Given the description of an element on the screen output the (x, y) to click on. 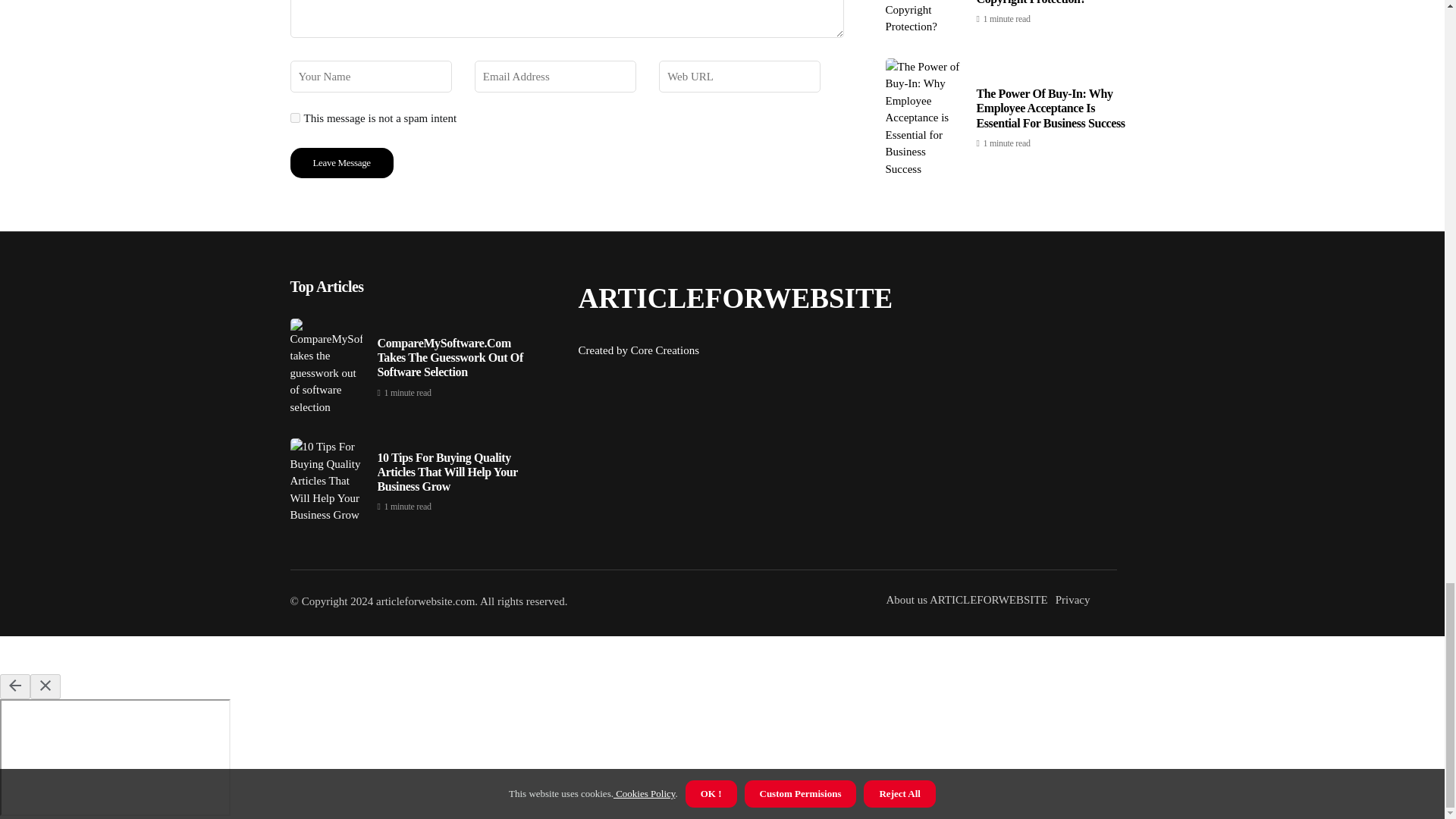
Leave Message (341, 163)
yes (294, 117)
Leave Message (341, 163)
